Given the description of an element on the screen output the (x, y) to click on. 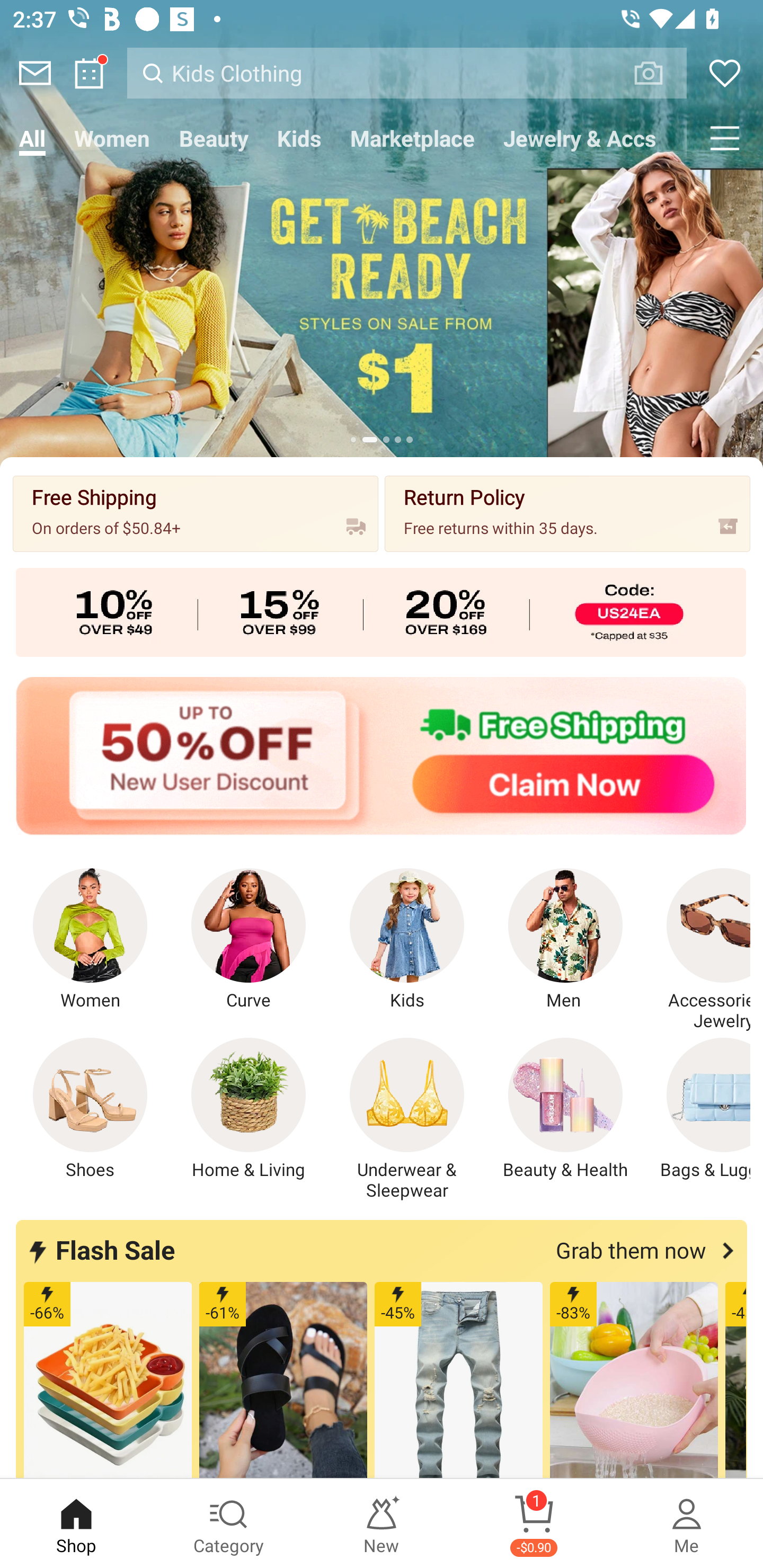
Wishlist (724, 72)
VISUAL SEARCH (657, 72)
All (31, 137)
Women (111, 137)
Beauty (213, 137)
Kids (298, 137)
Marketplace (412, 137)
Jewelry & Accs (580, 137)
Free Shipping On orders of $50.84+ (195, 513)
Return Policy Free returns within 35 days. (567, 513)
Women (89, 939)
Curve (248, 939)
Kids (406, 939)
Men  (565, 939)
Accessories & Jewelry (698, 949)
Shoes (89, 1109)
Home & Living (248, 1109)
Underwear & Sleepwear (406, 1119)
Beauty & Health (565, 1109)
Bags & Luggage (698, 1109)
Category (228, 1523)
New (381, 1523)
Cart 1 -$0.90 (533, 1523)
Me (686, 1523)
